Given the description of an element on the screen output the (x, y) to click on. 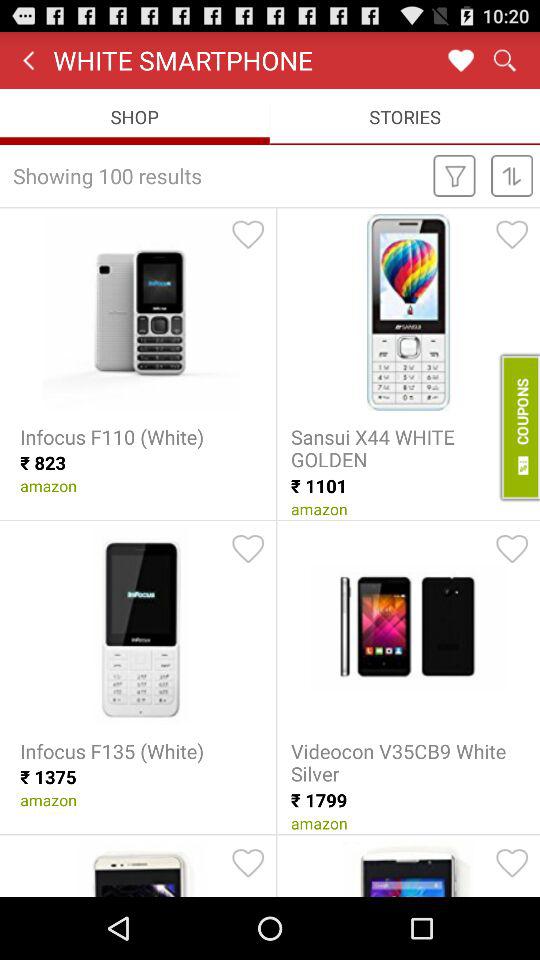
favorite product (248, 234)
